Given the description of an element on the screen output the (x, y) to click on. 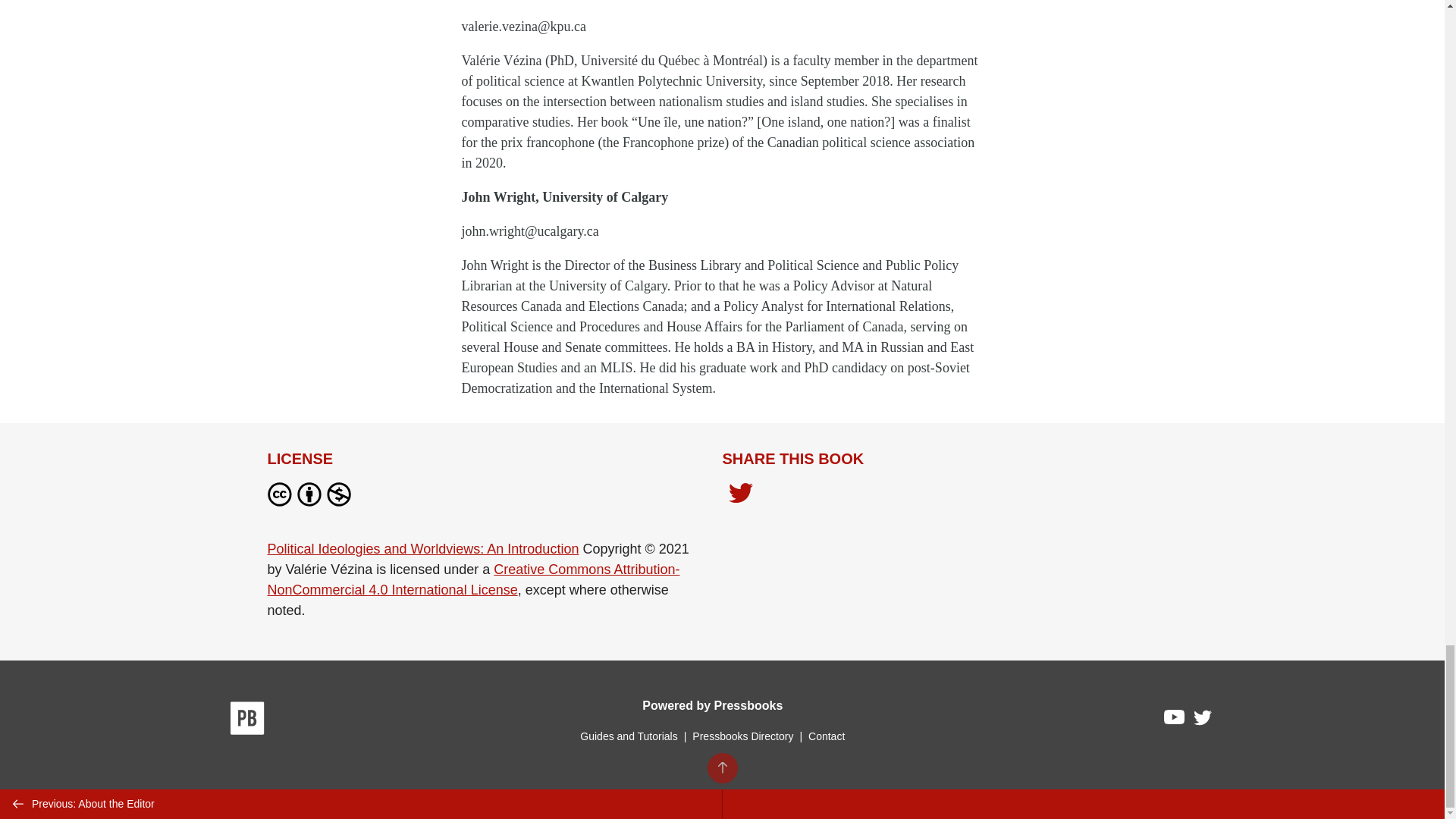
Pressbooks on YouTube (1174, 721)
Guides and Tutorials (627, 736)
Pressbooks Directory (742, 736)
Powered by Pressbooks (712, 705)
Contact (826, 736)
Political Ideologies and Worldviews: An Introduction (422, 548)
Pressbooks (247, 721)
Pressbooks on Twitter (1202, 721)
Share on Twitter (740, 494)
Share on Twitter (740, 496)
